Given the description of an element on the screen output the (x, y) to click on. 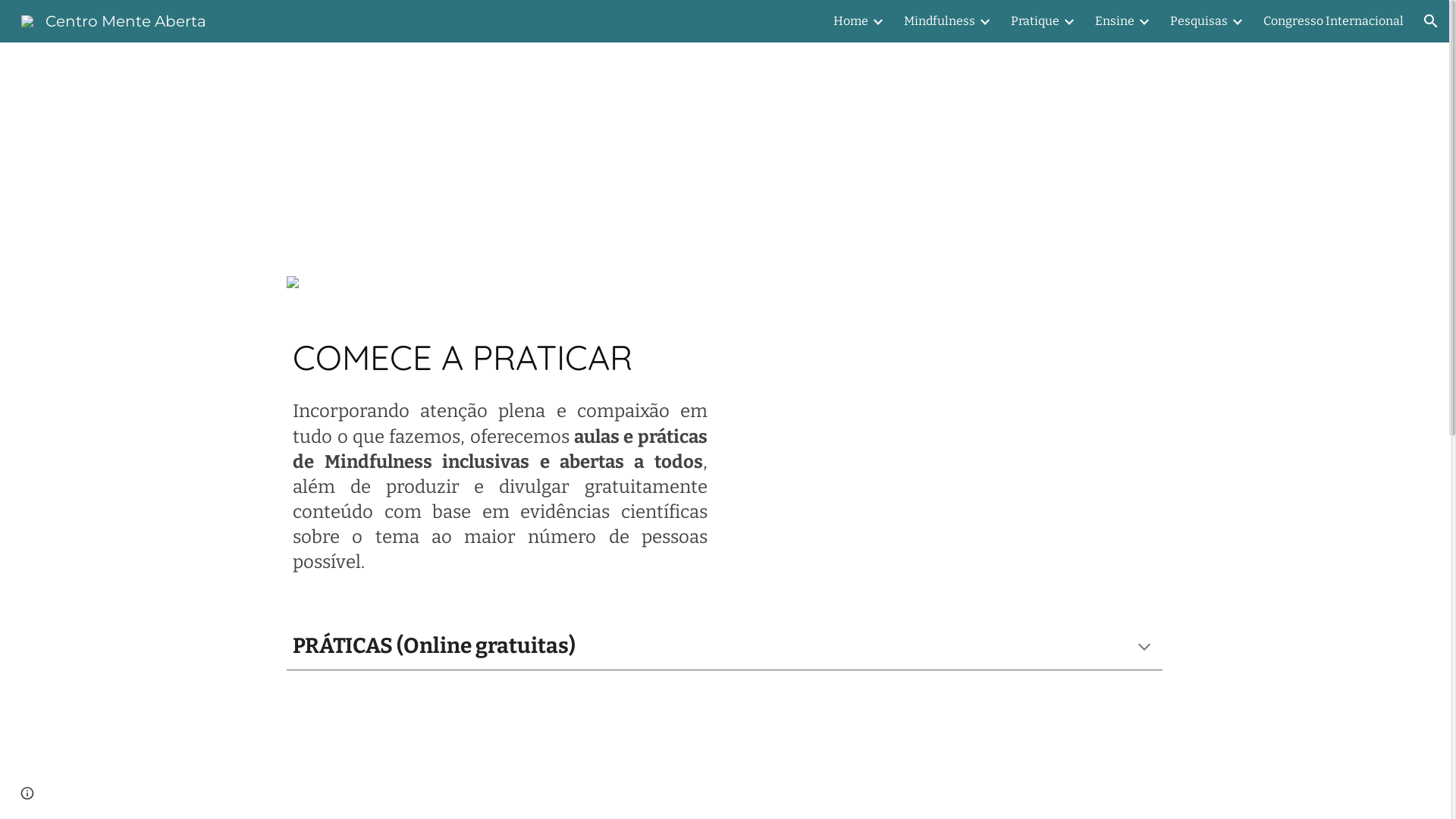
Mindfulness Element type: text (939, 20)
Expand/Collapse Element type: hover (984, 20)
Expand/Collapse Element type: hover (877, 20)
Pratique Element type: text (1034, 20)
Pesquisas Element type: text (1198, 20)
Centro Mente Aberta Element type: text (113, 19)
Expand/Collapse Element type: hover (1143, 20)
Expand/Collapse Element type: hover (1236, 20)
Expand/Collapse Element type: hover (1068, 20)
Home Element type: text (850, 20)
Congresso Internacional Element type: text (1333, 20)
Ensine Element type: text (1114, 20)
